Given the description of an element on the screen output the (x, y) to click on. 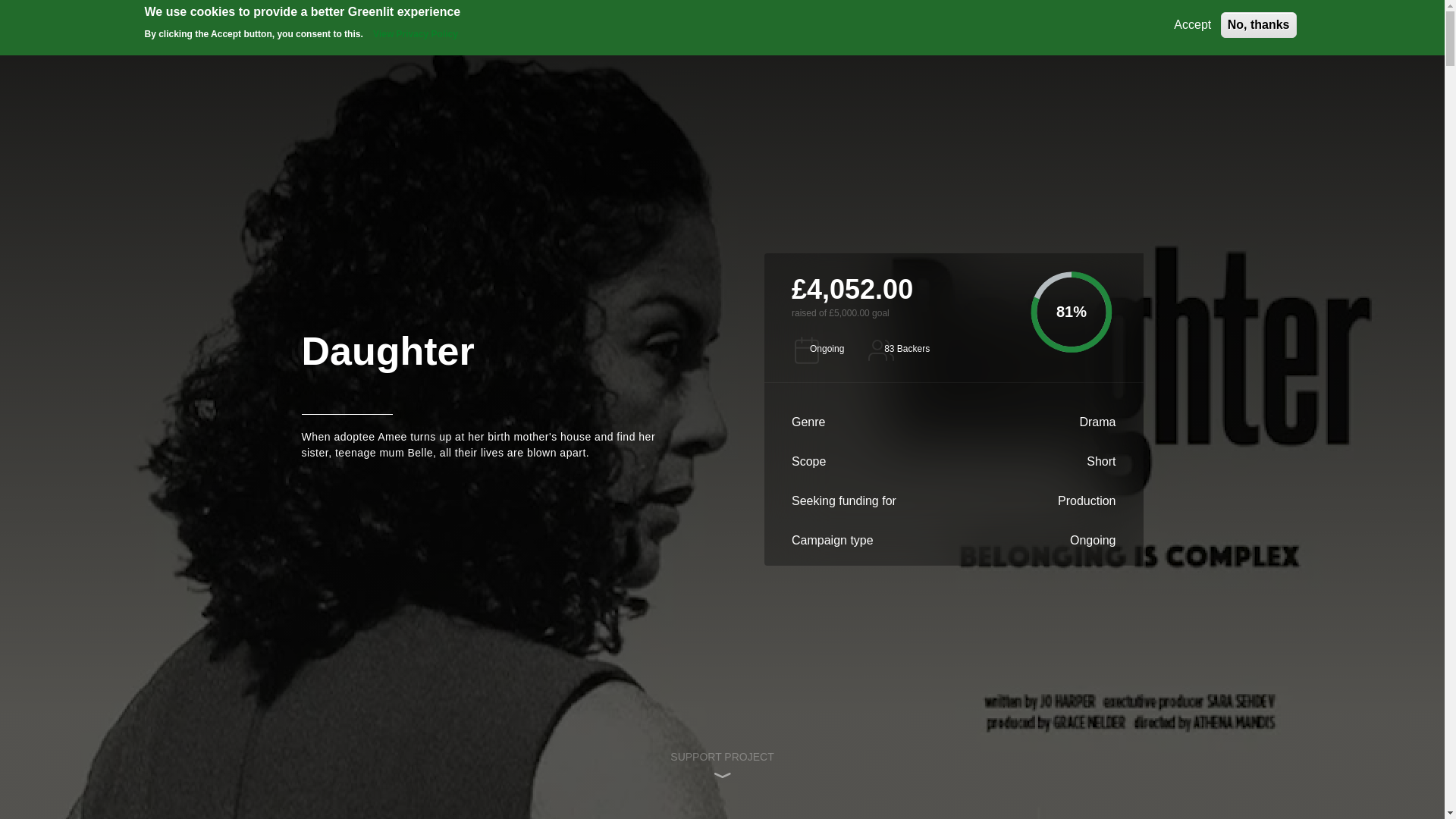
Terms of use (1026, 559)
LOGIN (1113, 24)
SUPPORT PROJECT (721, 763)
News (665, 23)
Facebook (606, 746)
View Privacy Policy (415, 33)
Projects (750, 23)
Create a new project (859, 23)
About (587, 23)
Partners (862, 602)
Skip to main content (721, 1)
Privacy (859, 559)
Instagram (709, 746)
SUPPORT PROJECT (721, 763)
Twitter (658, 746)
